Given the description of an element on the screen output the (x, y) to click on. 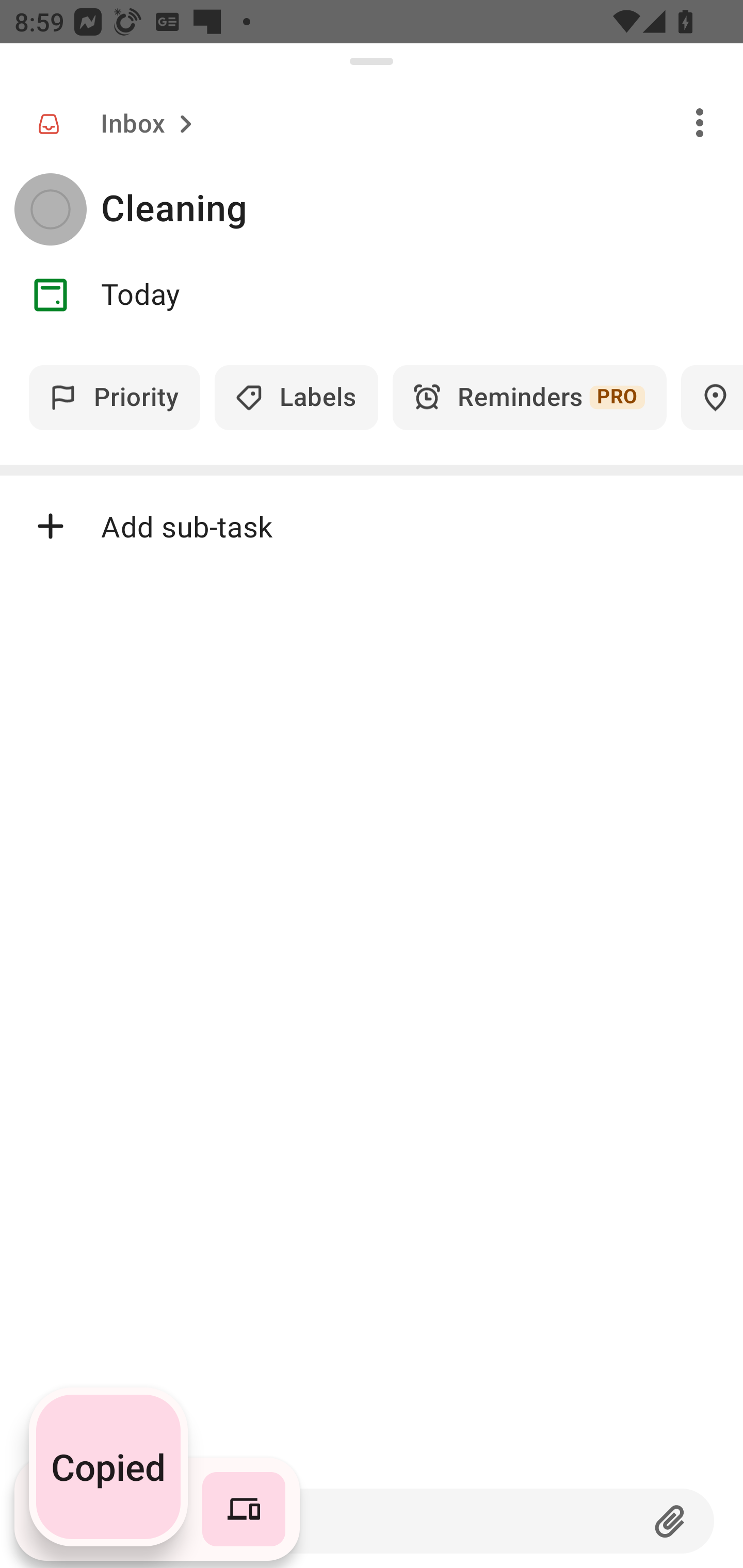
Overflow menu (699, 122)
Complete (50, 209)
Cleaning​ (422, 209)
Date Today (371, 295)
Priority (113, 397)
Labels (296, 397)
Reminders PRO (529, 397)
Locations PRO (712, 397)
Add sub-task (371, 525)
Attachment (670, 1520)
